Given the description of an element on the screen output the (x, y) to click on. 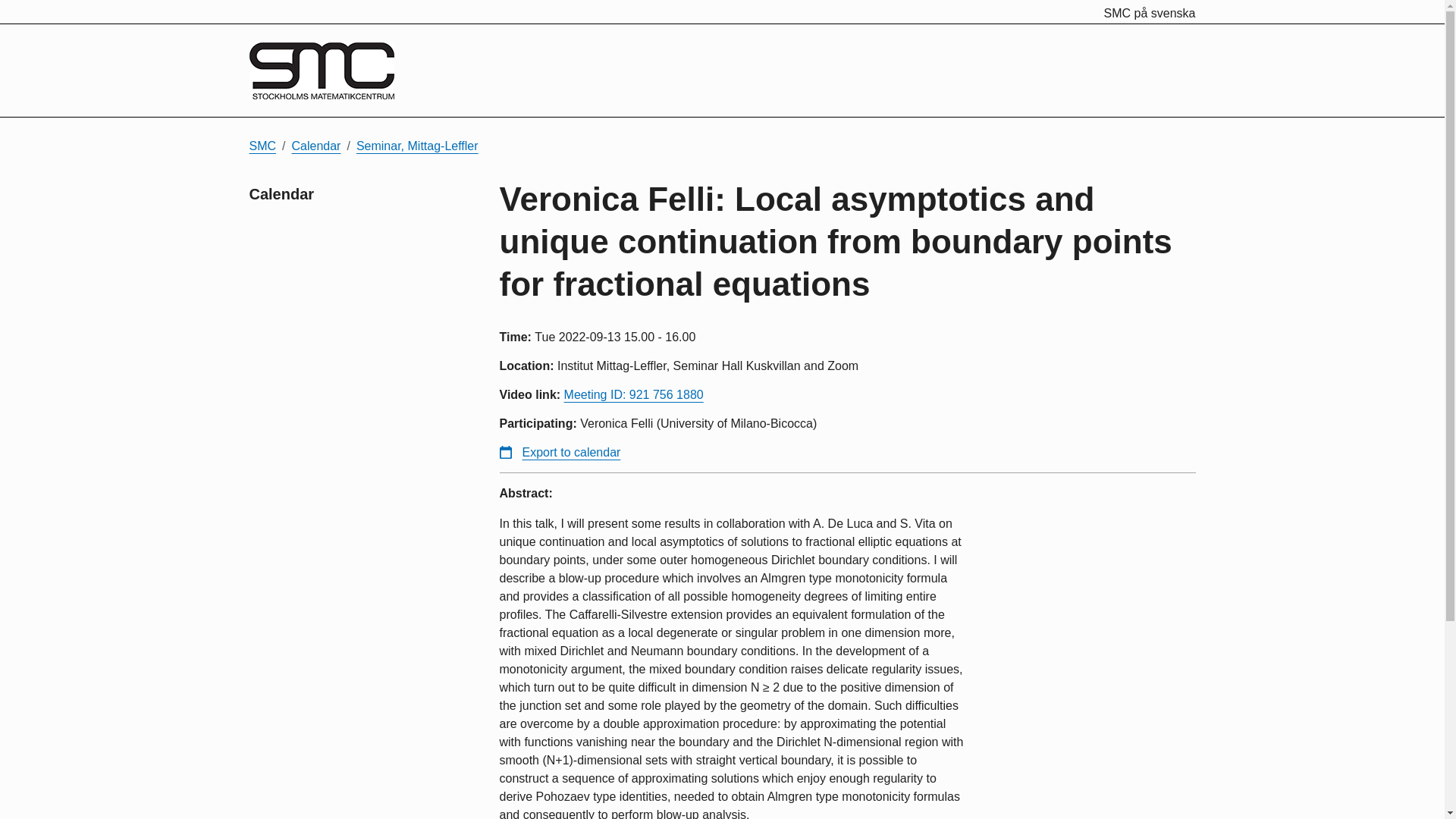
Seminar, Mittag-Leffler (417, 145)
Meeting ID: 921 756 1880 (633, 394)
Export to calendar (559, 451)
Calendar (316, 145)
SMC (262, 145)
